Given the description of an element on the screen output the (x, y) to click on. 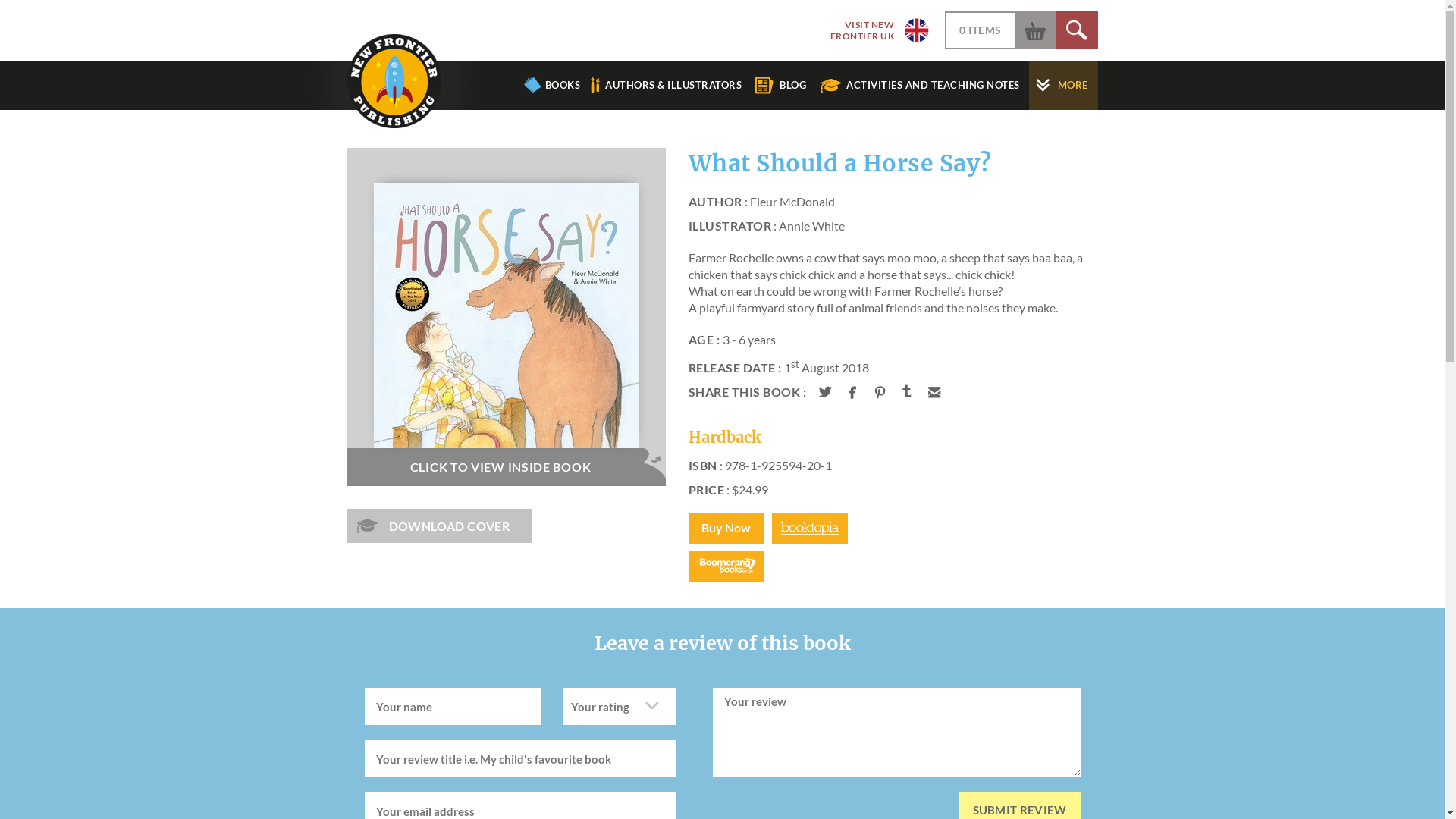
BLOG Element type: text (785, 84)
VISIT NEW
FRONTIER UK Element type: text (873, 30)
ILLUSTRATOR : Annie White Element type: text (893, 225)
CLICK TO VIEW INSIDE BOOK Element type: text (505, 467)
AUTHORS & ILLUSTRATORS Element type: text (667, 84)
DOWNLOAD COVER Element type: text (440, 525)
AUTHOR : Fleur McDonald Element type: text (893, 201)
BOOKS Element type: text (551, 84)
Buy Now Element type: text (726, 528)
0 ITEMS Element type: text (980, 29)
ACTIVITIES AND TEACHING NOTES Element type: text (924, 84)
